Given the description of an element on the screen output the (x, y) to click on. 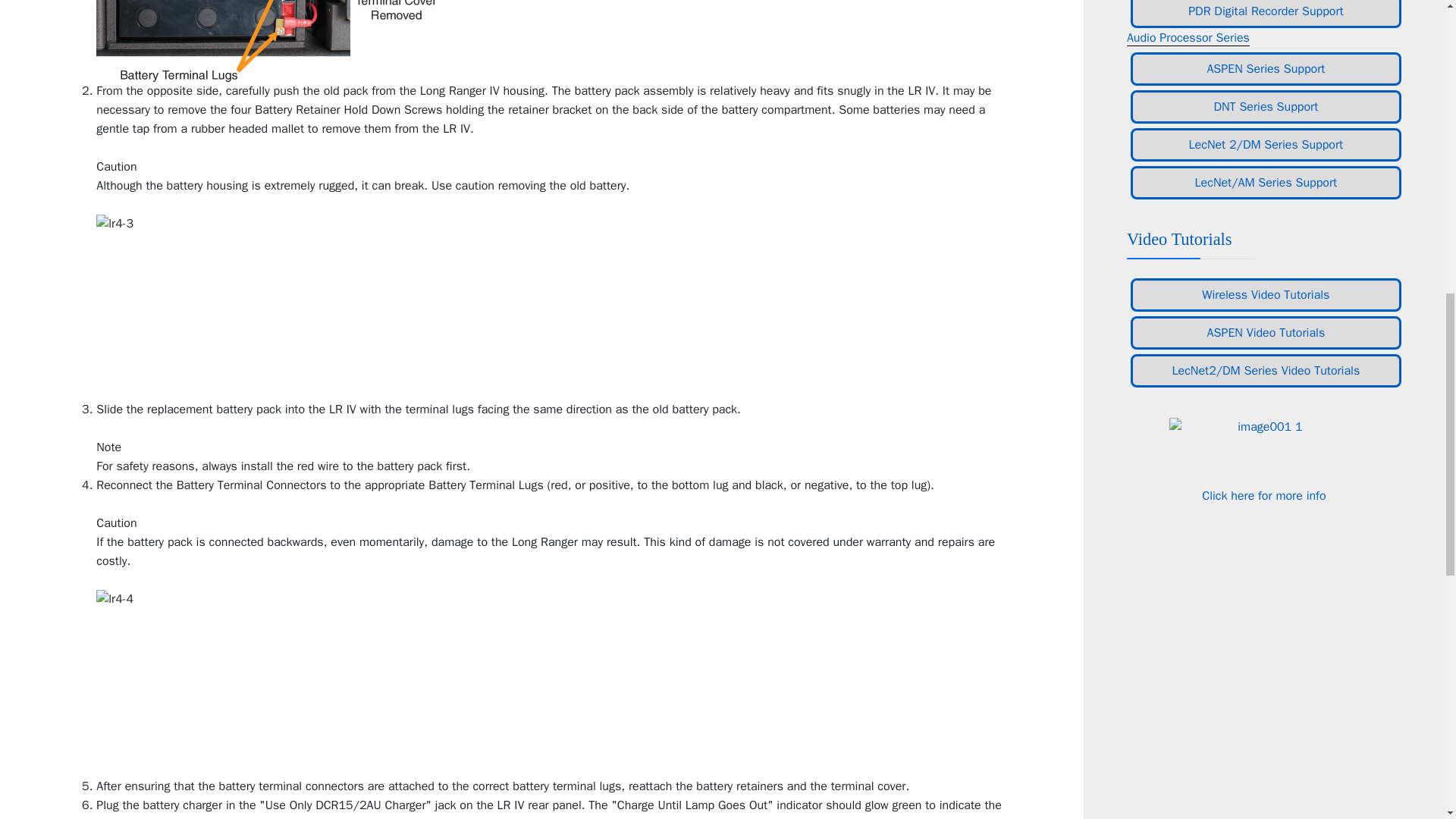
ASPEN Video Tutorials (1265, 332)
PDR Digital Recorder Support (1265, 13)
Click here for more info (1263, 495)
ASPEN Series Support (1265, 68)
Wireless Video Tutorials (1265, 295)
DNT Series Support (1265, 106)
